Given the description of an element on the screen output the (x, y) to click on. 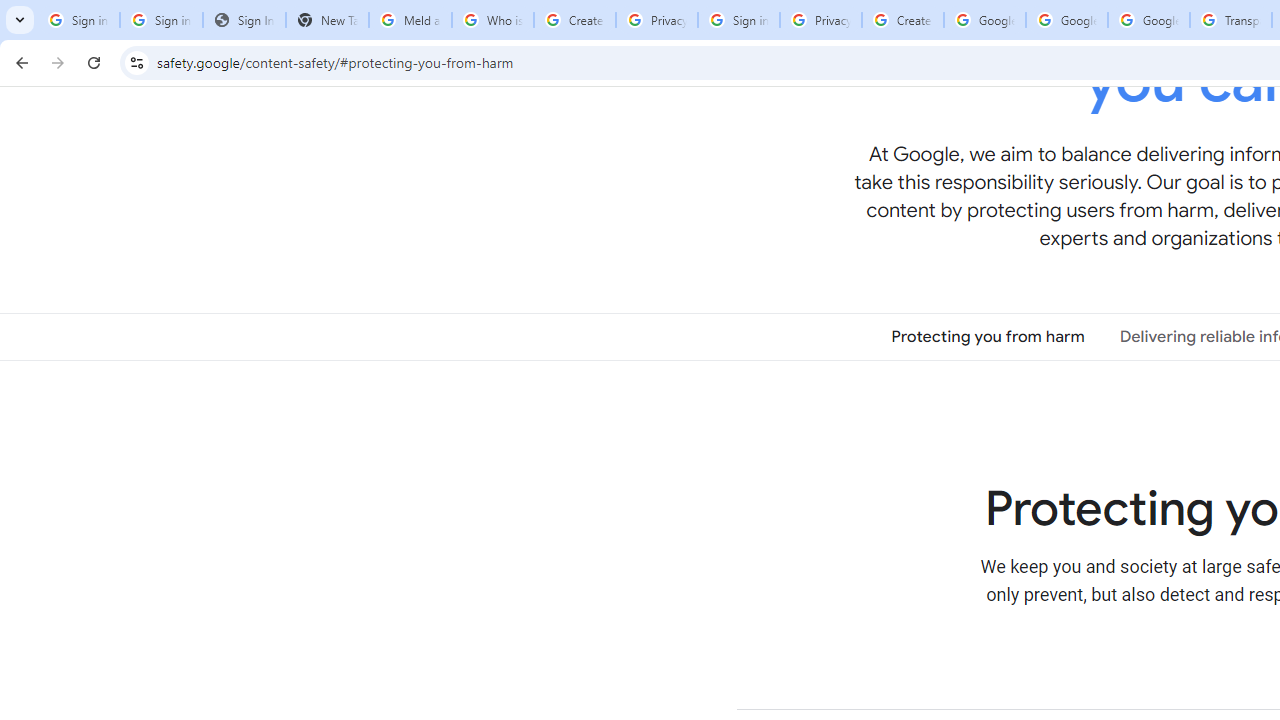
Create your Google Account (574, 20)
Who is my administrator? - Google Account Help (492, 20)
Protecting you from harm (987, 336)
Create your Google Account (902, 20)
Sign in - Google Accounts (738, 20)
